Given the description of an element on the screen output the (x, y) to click on. 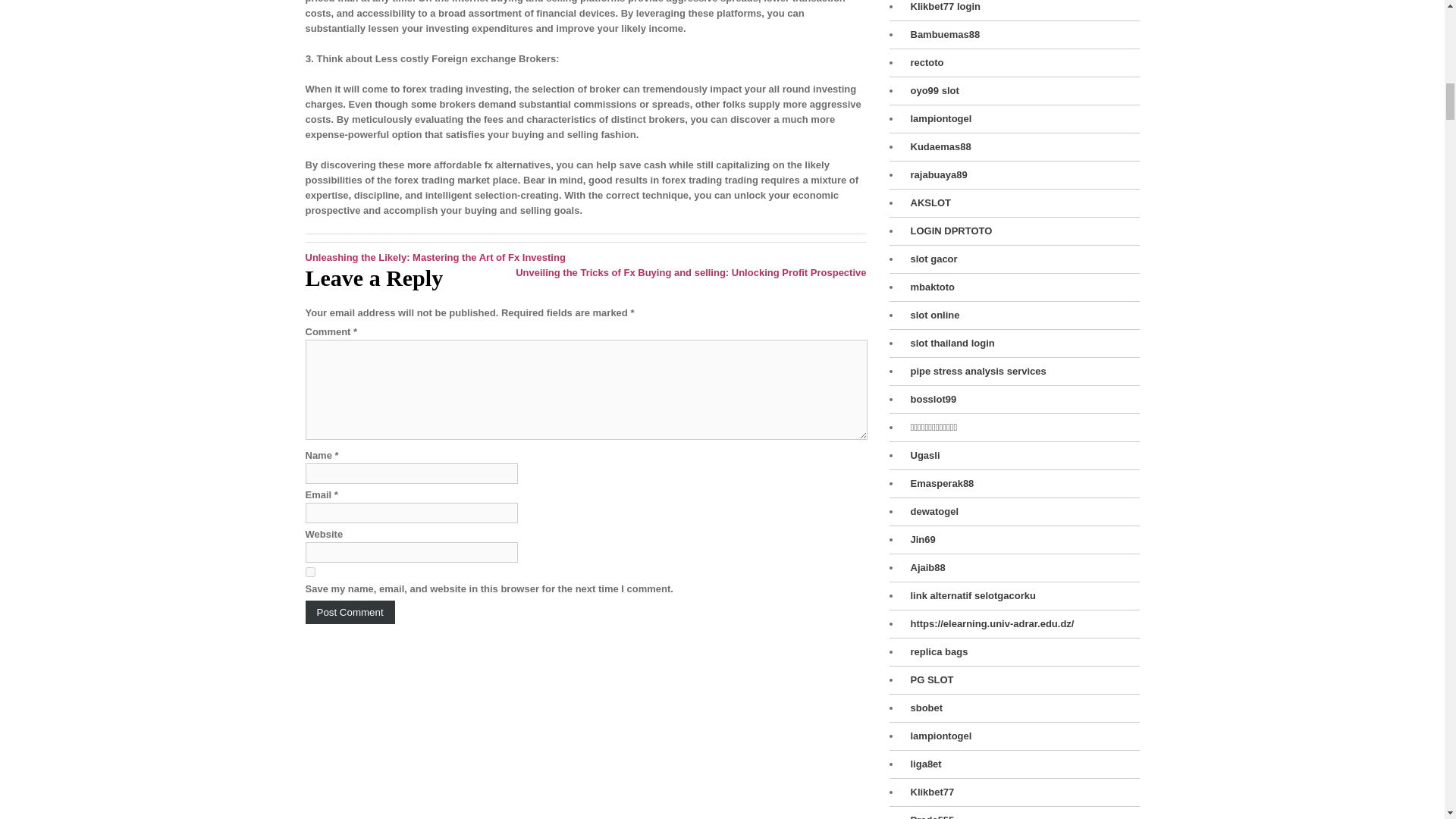
Post Comment (349, 612)
Unleashing the Likely: Mastering the Art of Fx Investing (434, 256)
Post Comment (349, 612)
yes (309, 572)
